Given the description of an element on the screen output the (x, y) to click on. 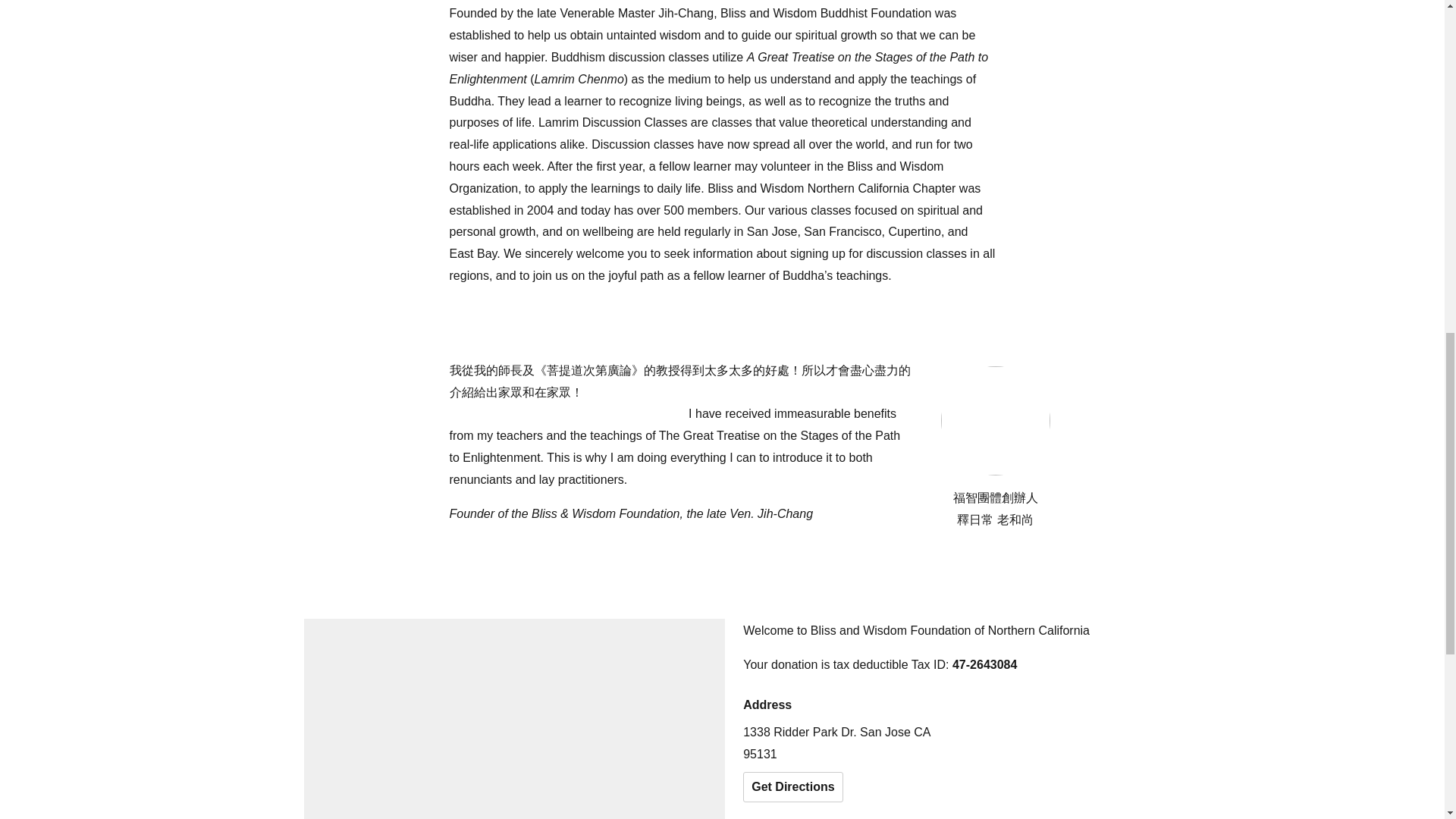
Get Directions (792, 787)
Location on map (513, 719)
